Given the description of an element on the screen output the (x, y) to click on. 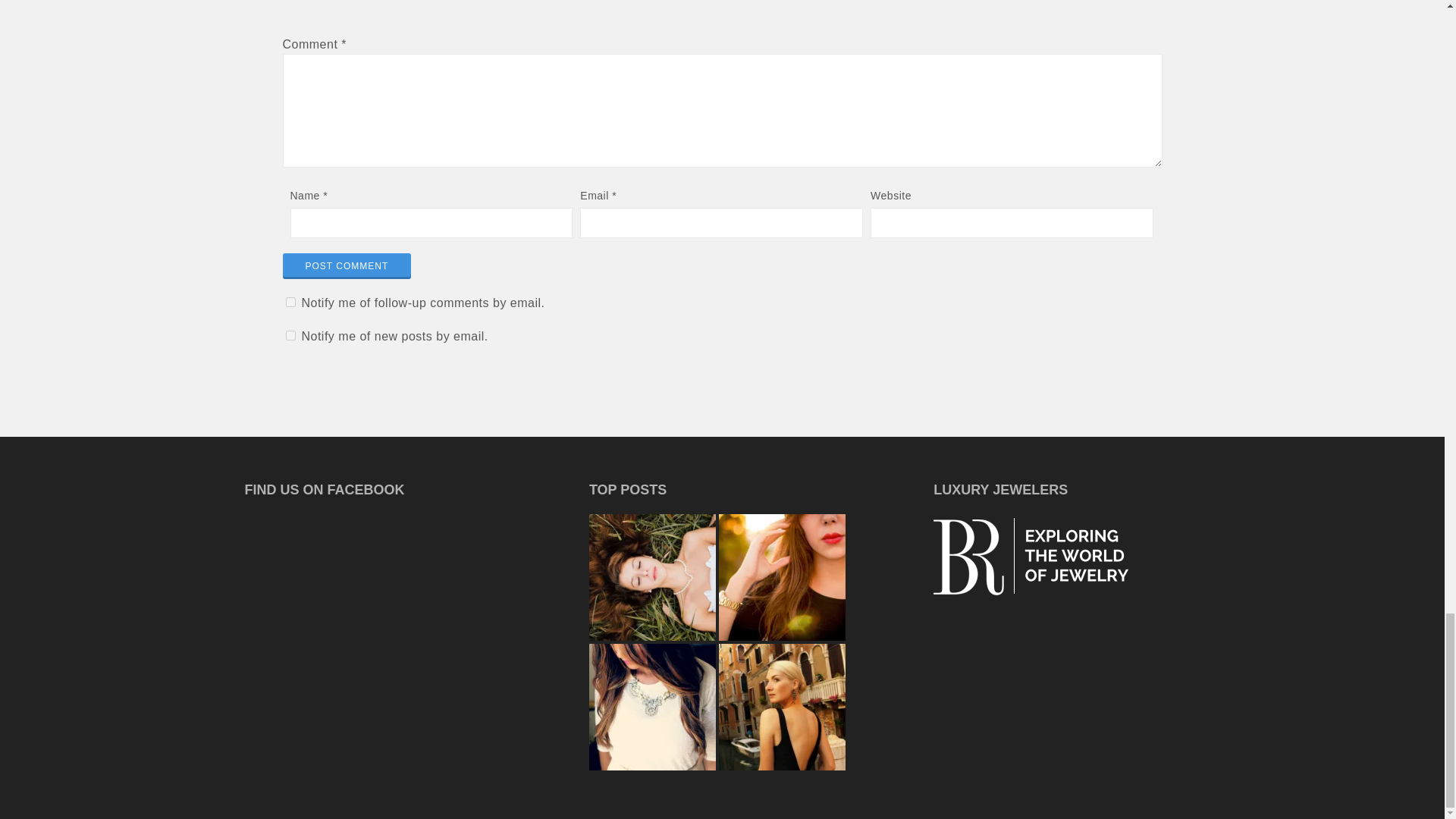
Understanding Your Engagement Ring Dream Meaning (652, 577)
subscribe (290, 335)
Types of Gold and How to Pair Them (782, 577)
subscribe (290, 302)
Post Comment (346, 266)
